Given the description of an element on the screen output the (x, y) to click on. 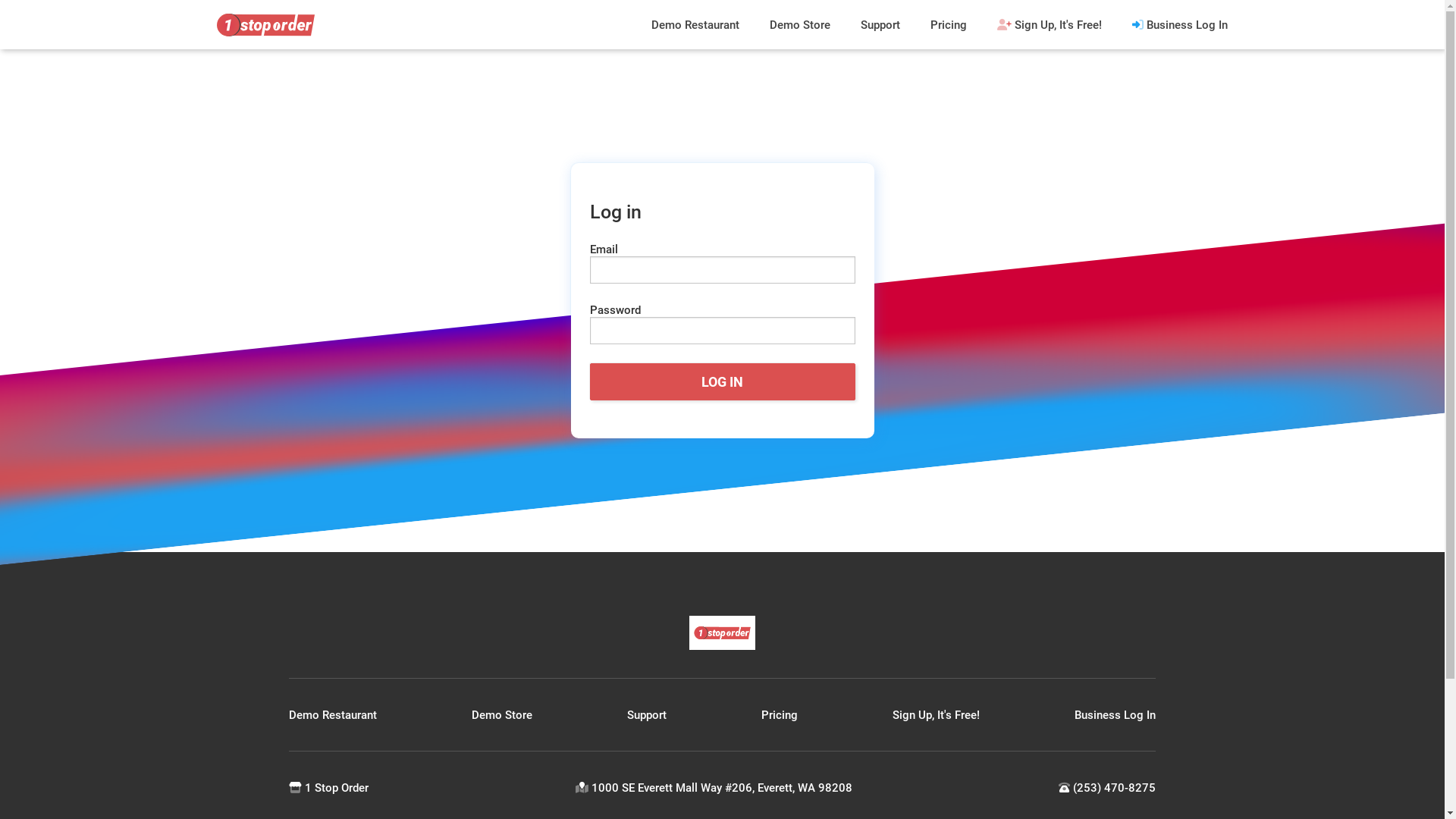
Support Element type: text (646, 714)
Sign Up, It's Free! Element type: text (935, 714)
Business Log In Element type: text (1114, 714)
Demo Restaurant Element type: text (332, 714)
Business Log In Element type: text (1179, 24)
Demo Store Element type: text (501, 714)
LOG IN Element type: text (722, 381)
Sign Up, It's Free! Element type: text (1049, 24)
Pricing Element type: text (779, 714)
